Given the description of an element on the screen output the (x, y) to click on. 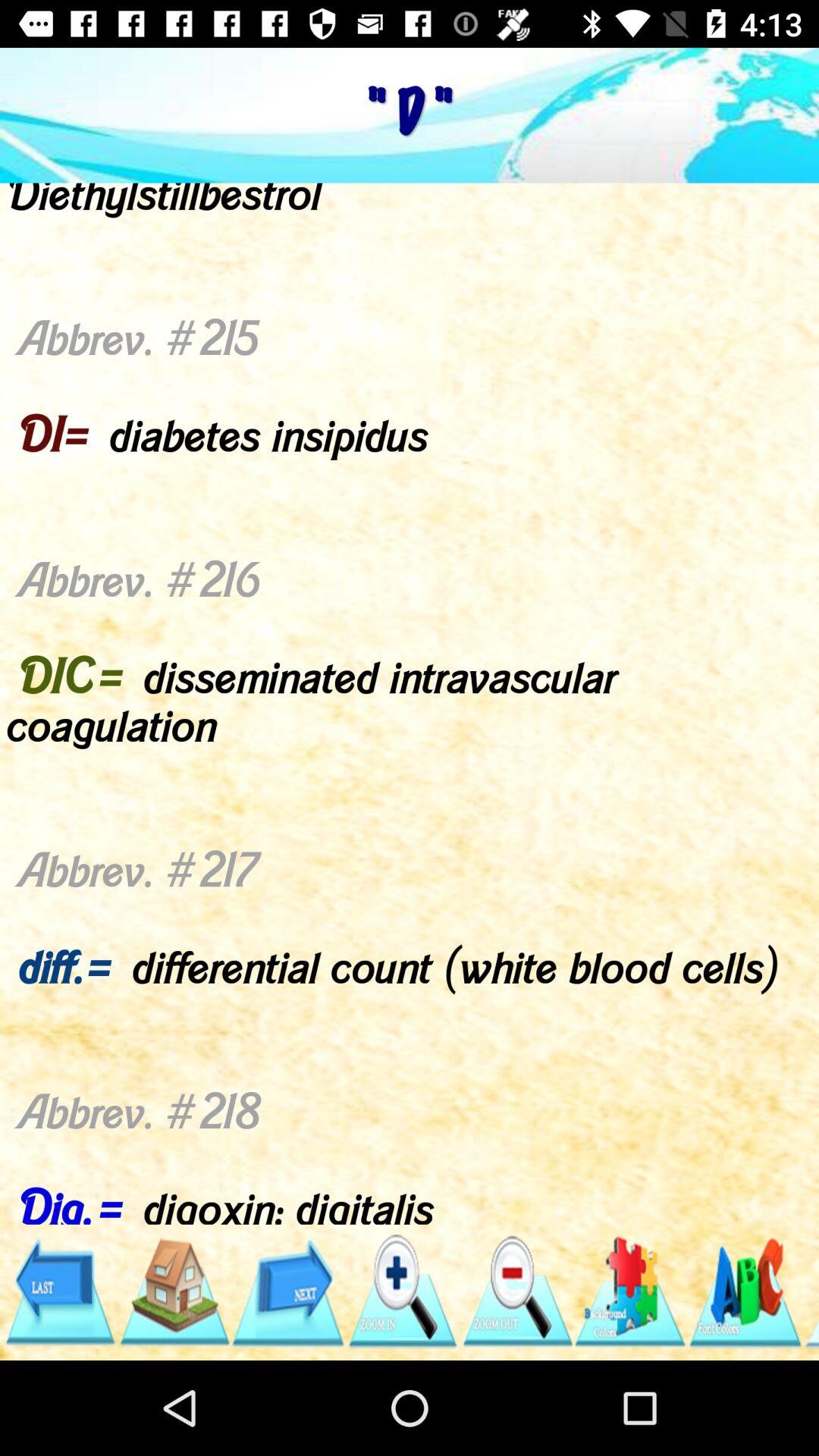
go to next (287, 1291)
